Given the description of an element on the screen output the (x, y) to click on. 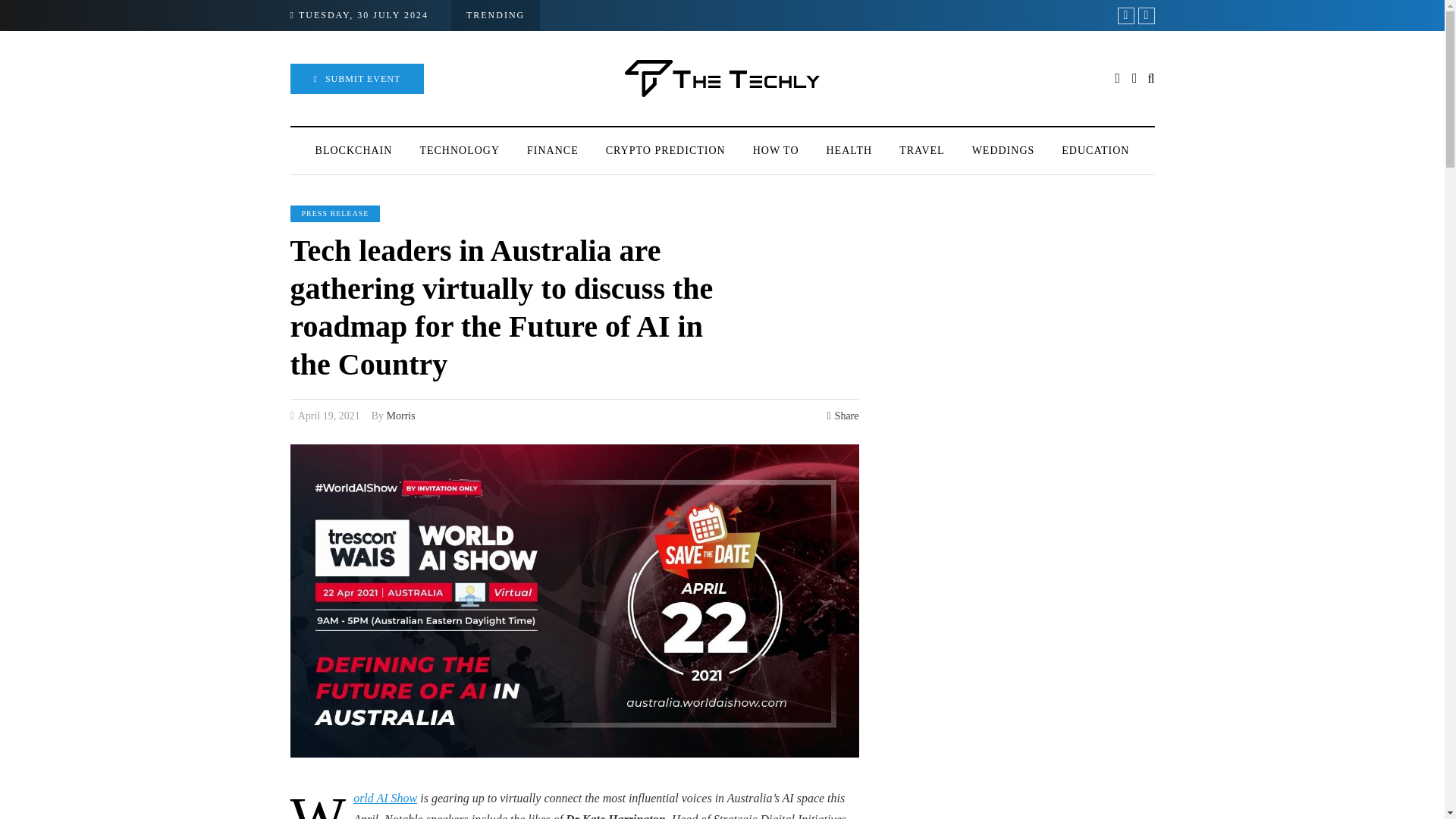
Posts by Morris (400, 414)
WEDDINGS (1003, 150)
TECHNOLOGY (459, 150)
SUBMIT EVENT (356, 78)
BLOCKCHAIN (353, 150)
Morris (400, 414)
World AI Show (384, 797)
EDUCATION (1095, 150)
CRYPTO PREDICTION (665, 150)
TRAVEL (921, 150)
FINANCE (552, 150)
PRESS RELEASE (334, 213)
HOW TO (775, 150)
HEALTH (849, 150)
